Given the description of an element on the screen output the (x, y) to click on. 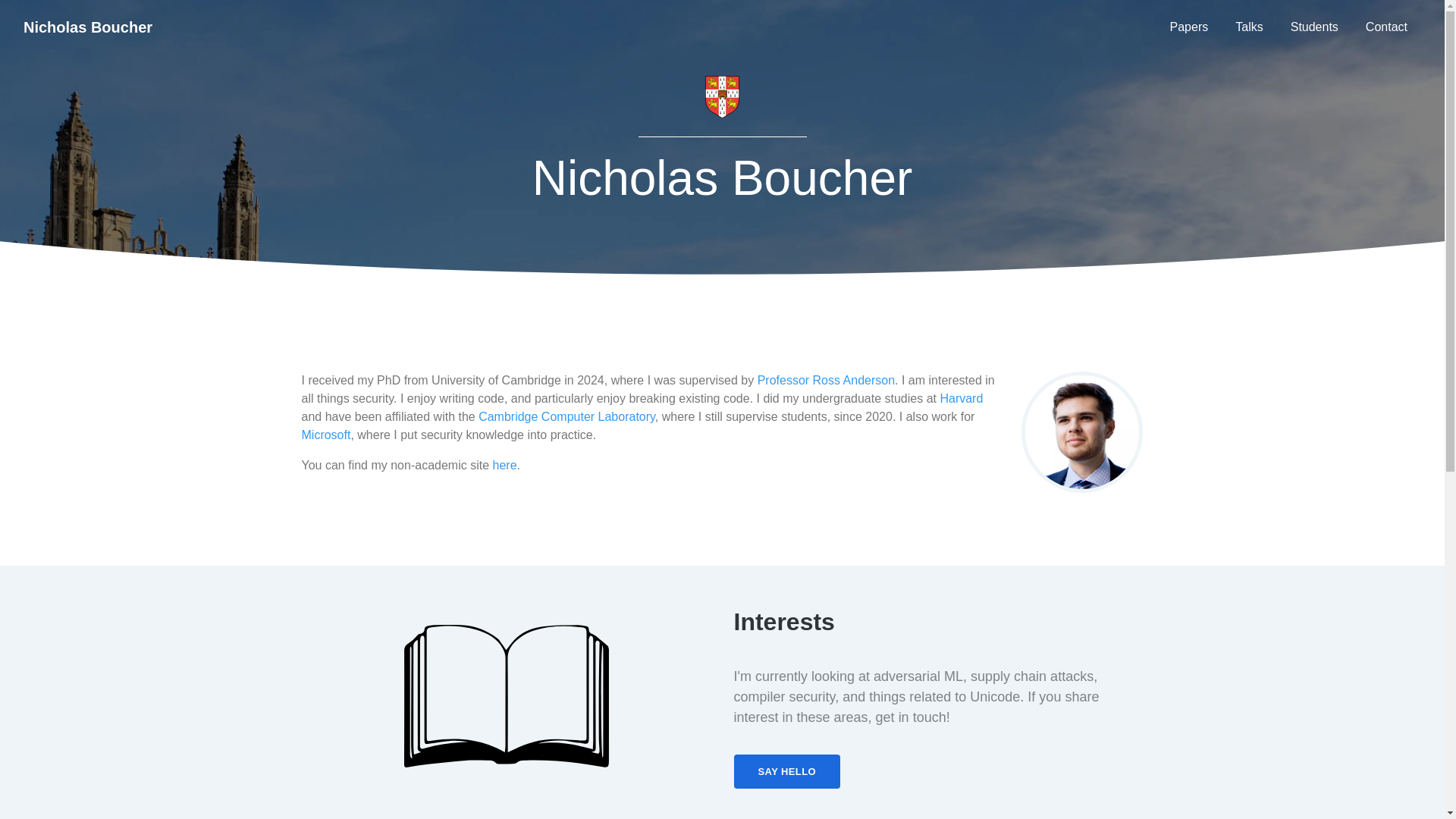
Nicholas Boucher (87, 27)
Students (1314, 27)
Professor Ross Anderson (826, 379)
SAY HELLO (787, 771)
Talks (1248, 27)
Papers (1189, 27)
Contact (1386, 27)
Cambridge Computer Laboratory (567, 416)
Harvard (960, 398)
here (504, 464)
